Given the description of an element on the screen output the (x, y) to click on. 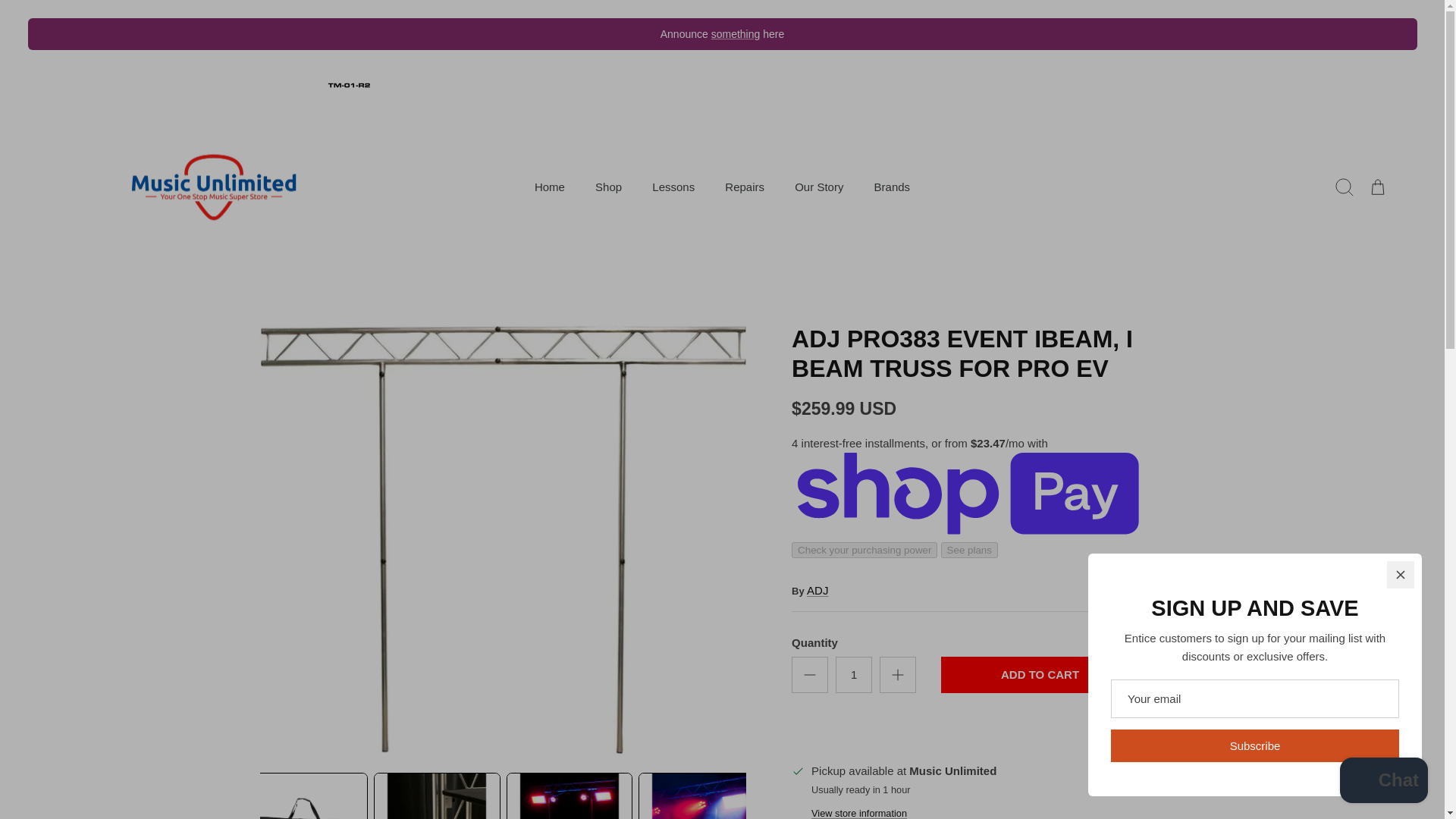
Repairs (744, 187)
Cart (1376, 186)
1 (853, 674)
Brands (892, 187)
Search (1342, 186)
Lessons (673, 187)
Shopify online store chat (1383, 781)
something (735, 33)
Our Story (818, 187)
Intrumentpro.com, Inc (212, 187)
